Given the description of an element on the screen output the (x, y) to click on. 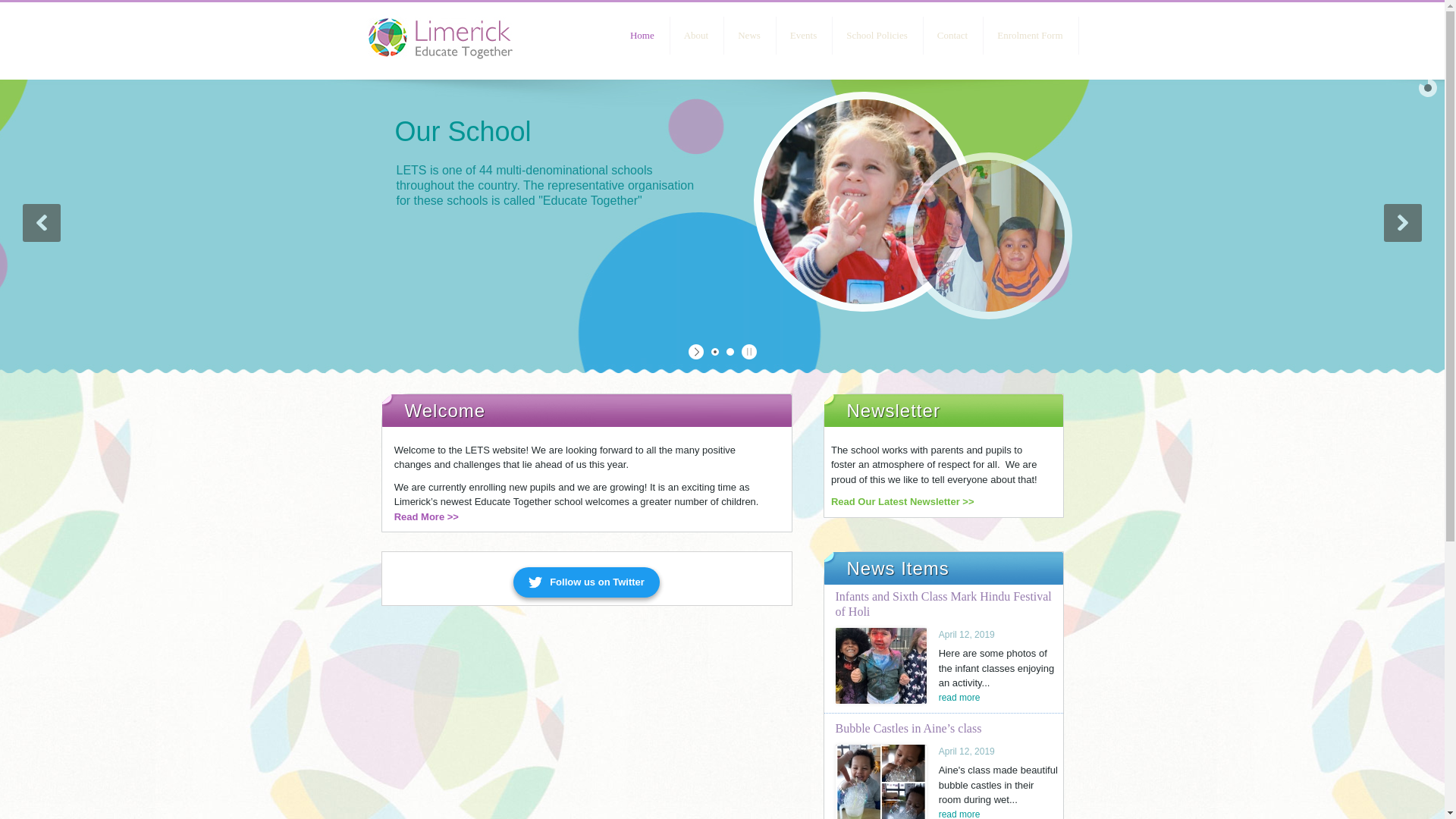
About (426, 516)
News (748, 35)
Infants and Sixth Class Mark Hindu Festival of Holi (943, 604)
Infants and Sixth Class Mark Hindu Festival of Holi (943, 604)
Home (641, 35)
About (695, 35)
Follow us on Twitter (586, 582)
Infants and Sixth Class Mark Hindu Festival of Holi (959, 696)
School Policies (876, 35)
read more (959, 696)
Events (802, 35)
Enrolment Form (1029, 35)
read more (959, 813)
Infants and Sixth Class Mark Hindu Festival of Holi (880, 665)
Contact (952, 35)
